Given the description of an element on the screen output the (x, y) to click on. 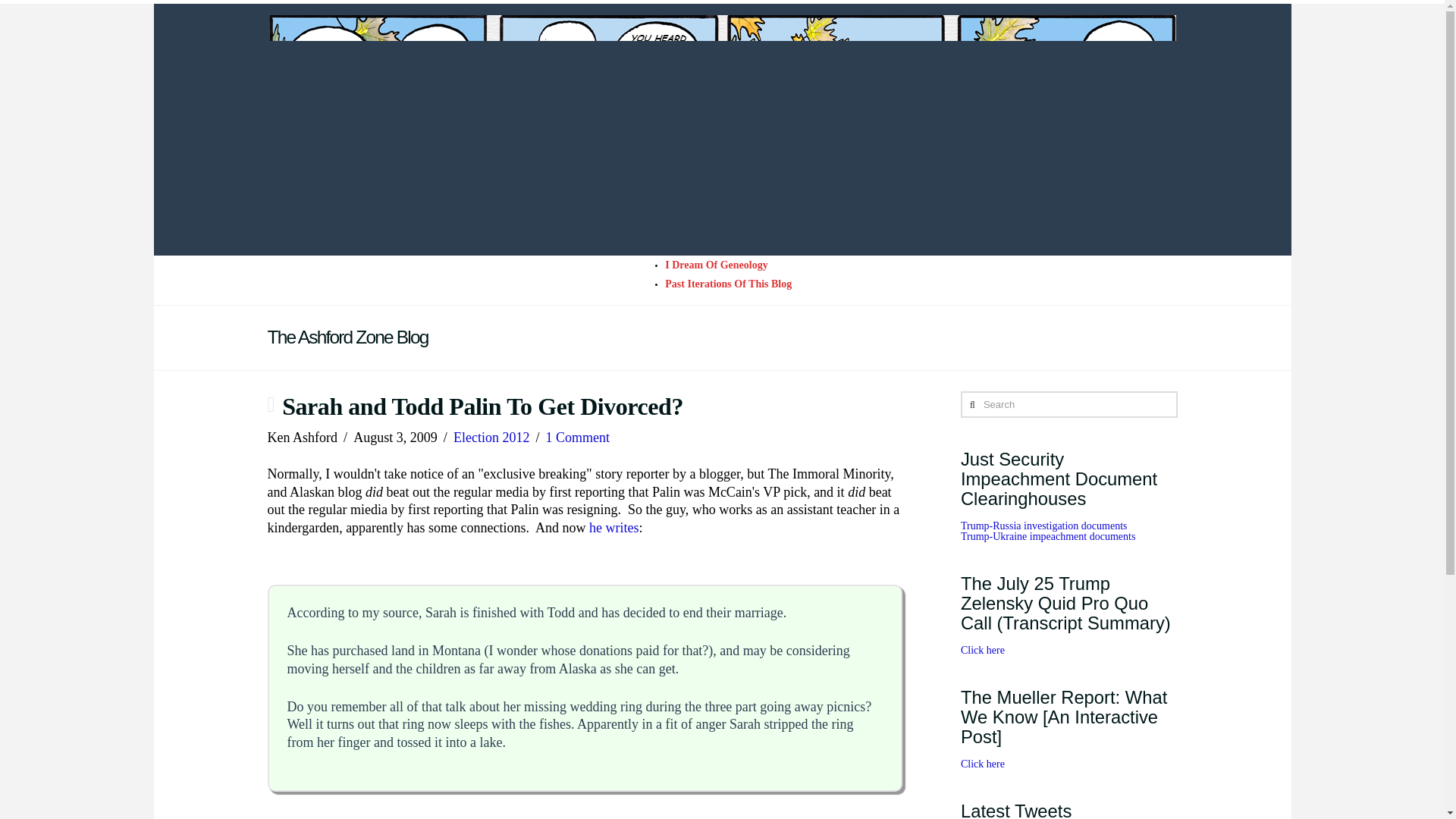
Click here (982, 650)
Trump-Ukraine impeachment documents (1047, 536)
Election 2012 (490, 437)
1 Comment (578, 437)
I Dream Of Geneology (716, 265)
Trump-Russia investigation documents (1043, 525)
he writes (614, 527)
Past Iterations Of This Blog (728, 283)
Click here (982, 763)
